Given the description of an element on the screen output the (x, y) to click on. 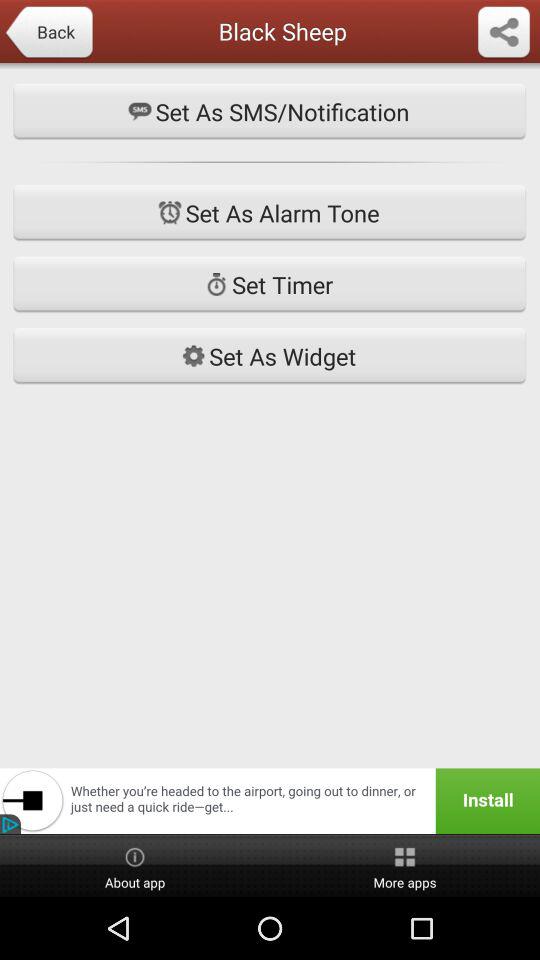
choose the item to the right of about app item (405, 866)
